Given the description of an element on the screen output the (x, y) to click on. 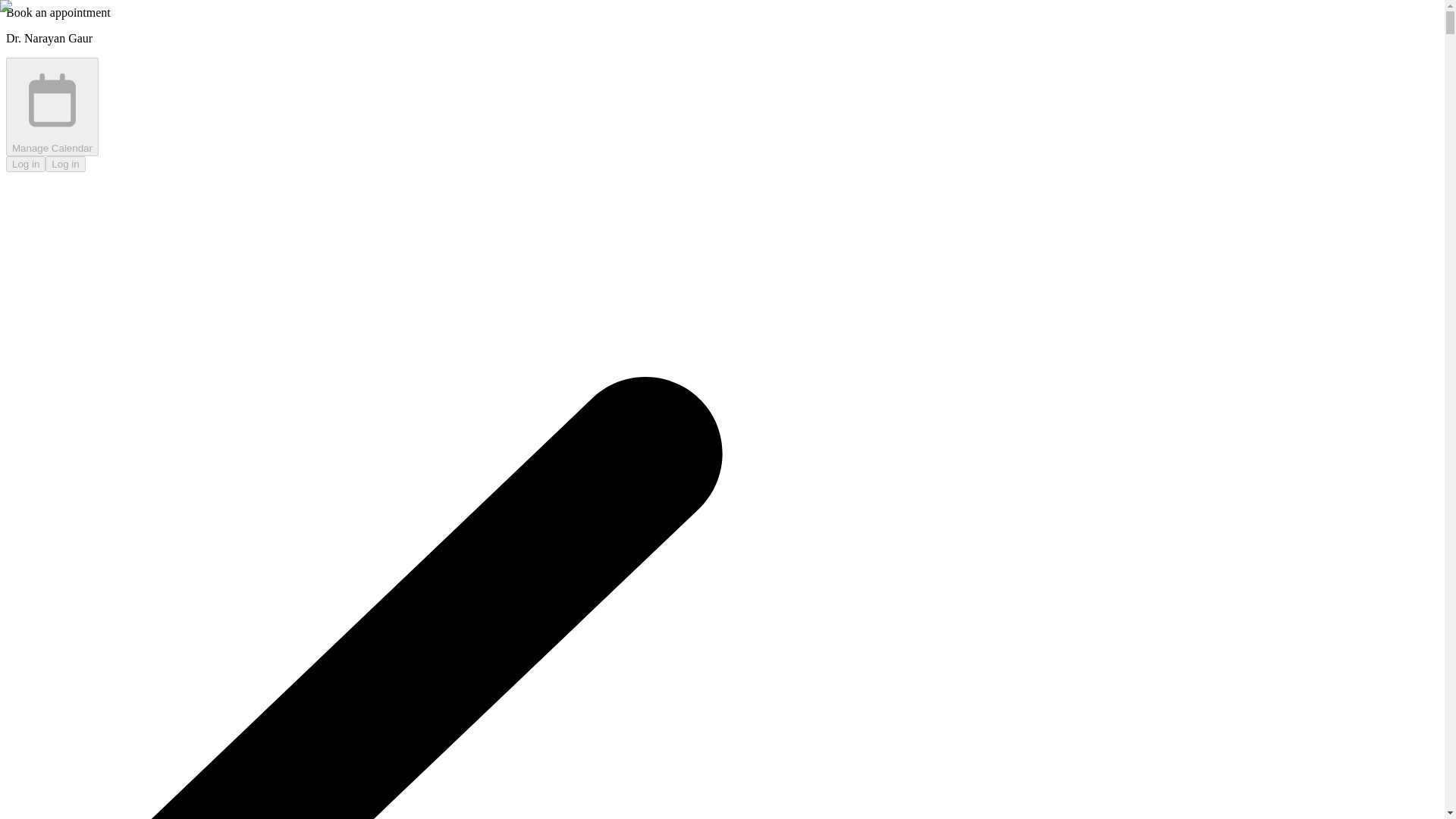
Log in (64, 163)
Manage Calendar (52, 106)
Log in (25, 163)
